Given the description of an element on the screen output the (x, y) to click on. 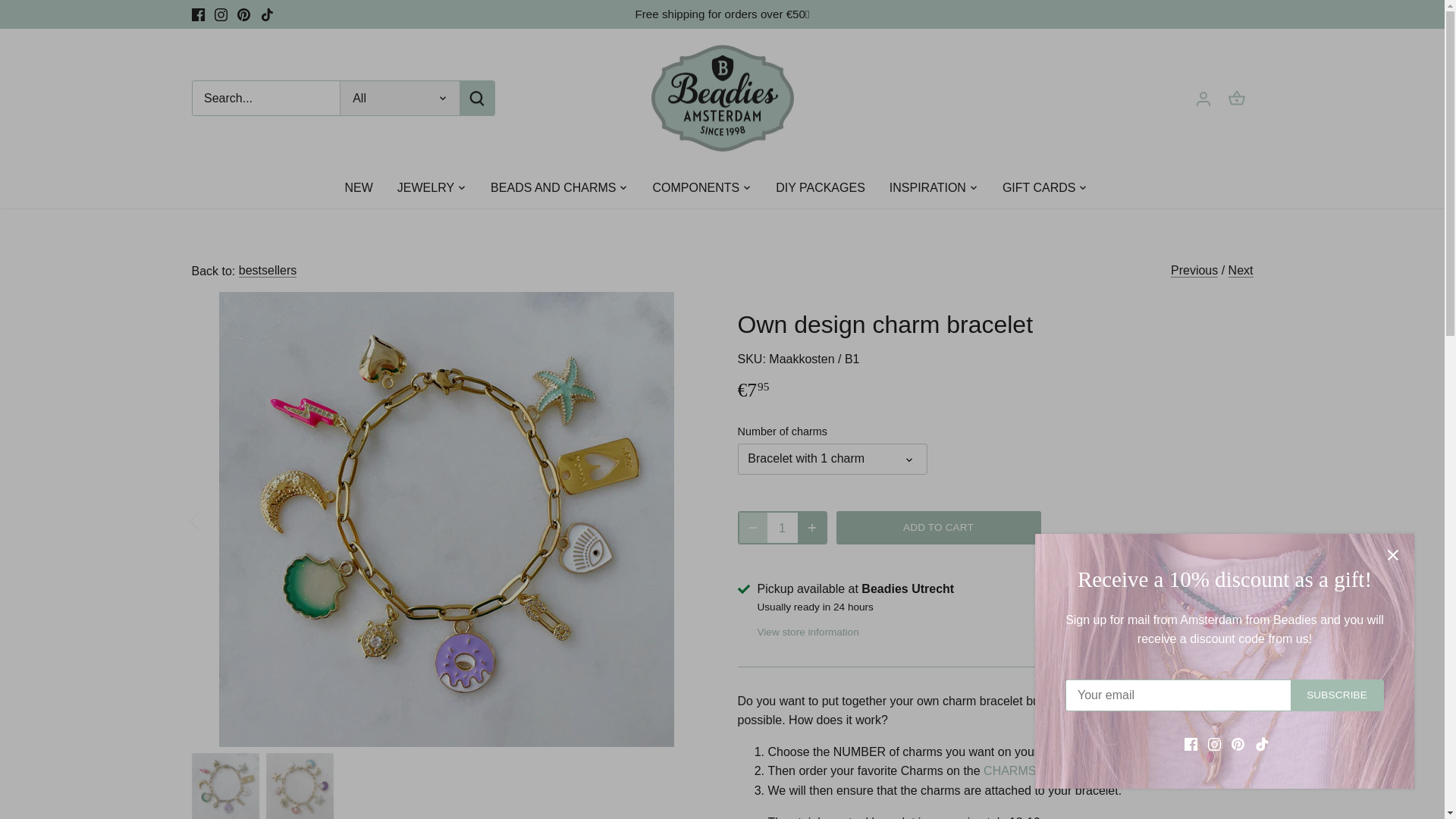
Go to cart (1236, 97)
Instagram (220, 13)
bestsellers (267, 270)
Charms (1009, 770)
NEW (363, 187)
JEWELRY (425, 187)
1 (782, 527)
Pinterest (243, 14)
Facebook (196, 13)
Instagram (220, 14)
Pinterest (243, 13)
Facebook (196, 14)
